Given the description of an element on the screen output the (x, y) to click on. 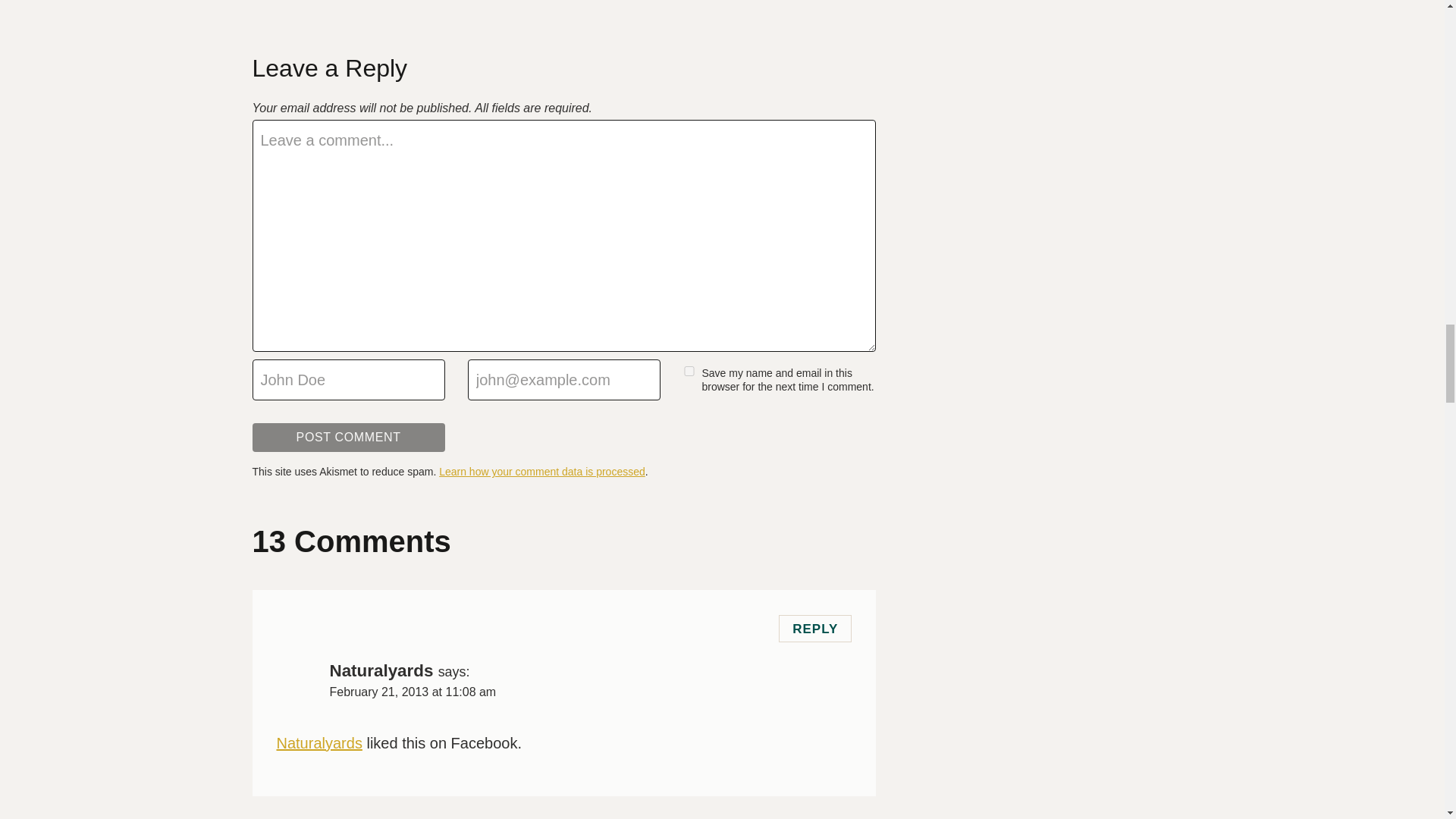
Post Comment (347, 437)
yes (688, 370)
